Given the description of an element on the screen output the (x, y) to click on. 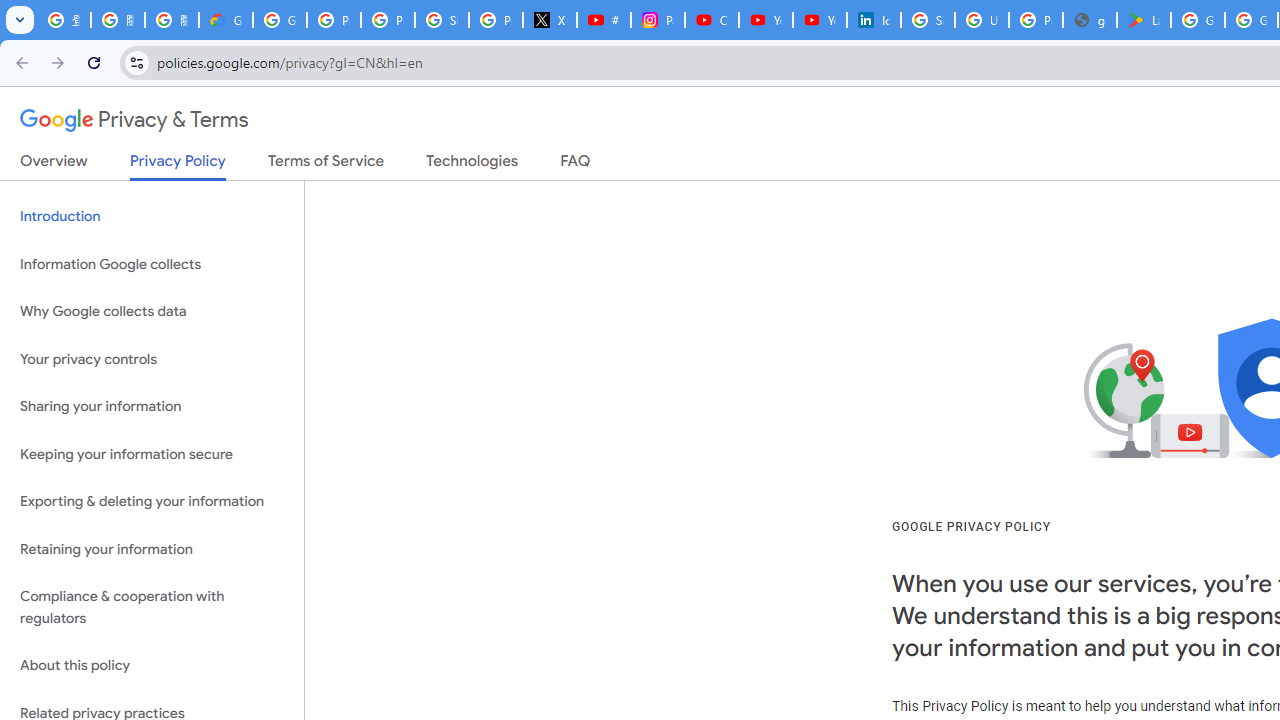
YouTube Culture & Trends - YouTube Top 10, 2021 (819, 20)
Sign in - Google Accounts (441, 20)
